Given the description of an element on the screen output the (x, y) to click on. 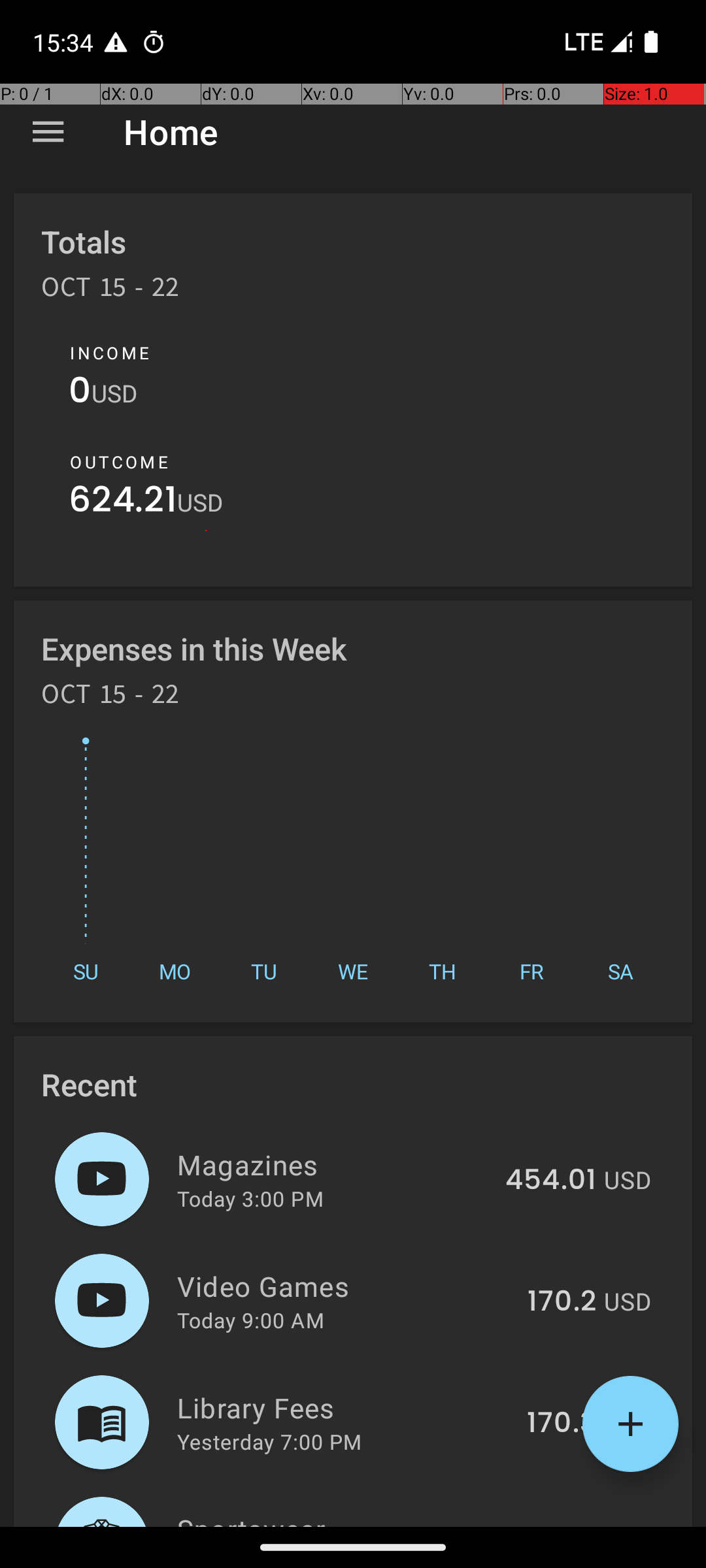
624.21 Element type: android.widget.TextView (122, 502)
Magazines Element type: android.widget.TextView (333, 1164)
Today 3:00 PM Element type: android.widget.TextView (250, 1198)
454.01 Element type: android.widget.TextView (550, 1180)
Video Games Element type: android.widget.TextView (344, 1285)
Today 9:00 AM Element type: android.widget.TextView (250, 1320)
170.2 Element type: android.widget.TextView (561, 1301)
Library Fees Element type: android.widget.TextView (344, 1407)
Yesterday 7:00 PM Element type: android.widget.TextView (269, 1441)
170.3 Element type: android.widget.TextView (561, 1423)
Sportswear Element type: android.widget.TextView (331, 1518)
235.48 Element type: android.widget.TextView (548, 1524)
